Given the description of an element on the screen output the (x, y) to click on. 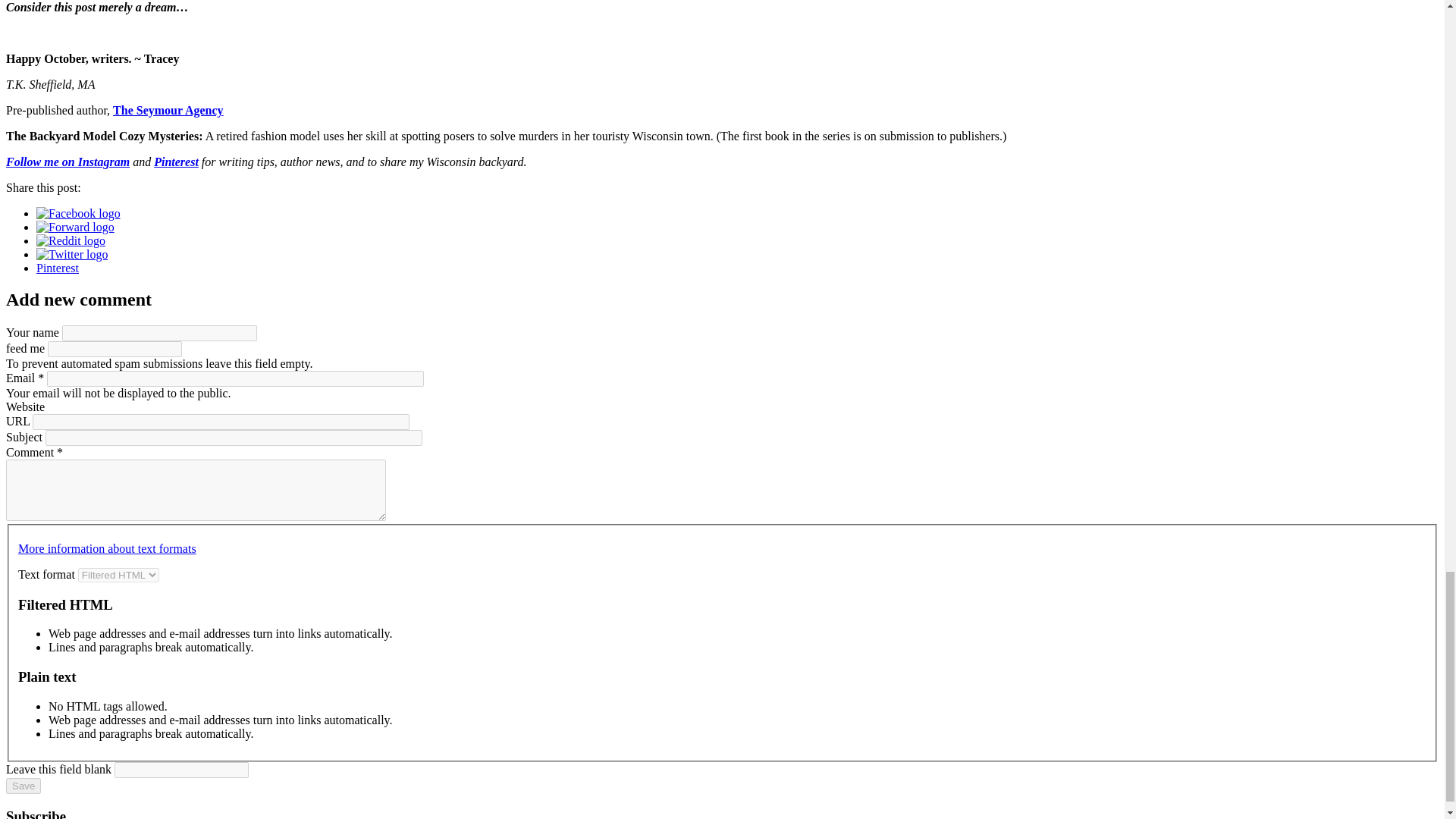
Share this on Twitter (71, 254)
Save (22, 785)
Send to a friend (75, 226)
Share on Facebook (78, 213)
Pin It (57, 267)
Submit this post on reddit.com (70, 240)
